Given the description of an element on the screen output the (x, y) to click on. 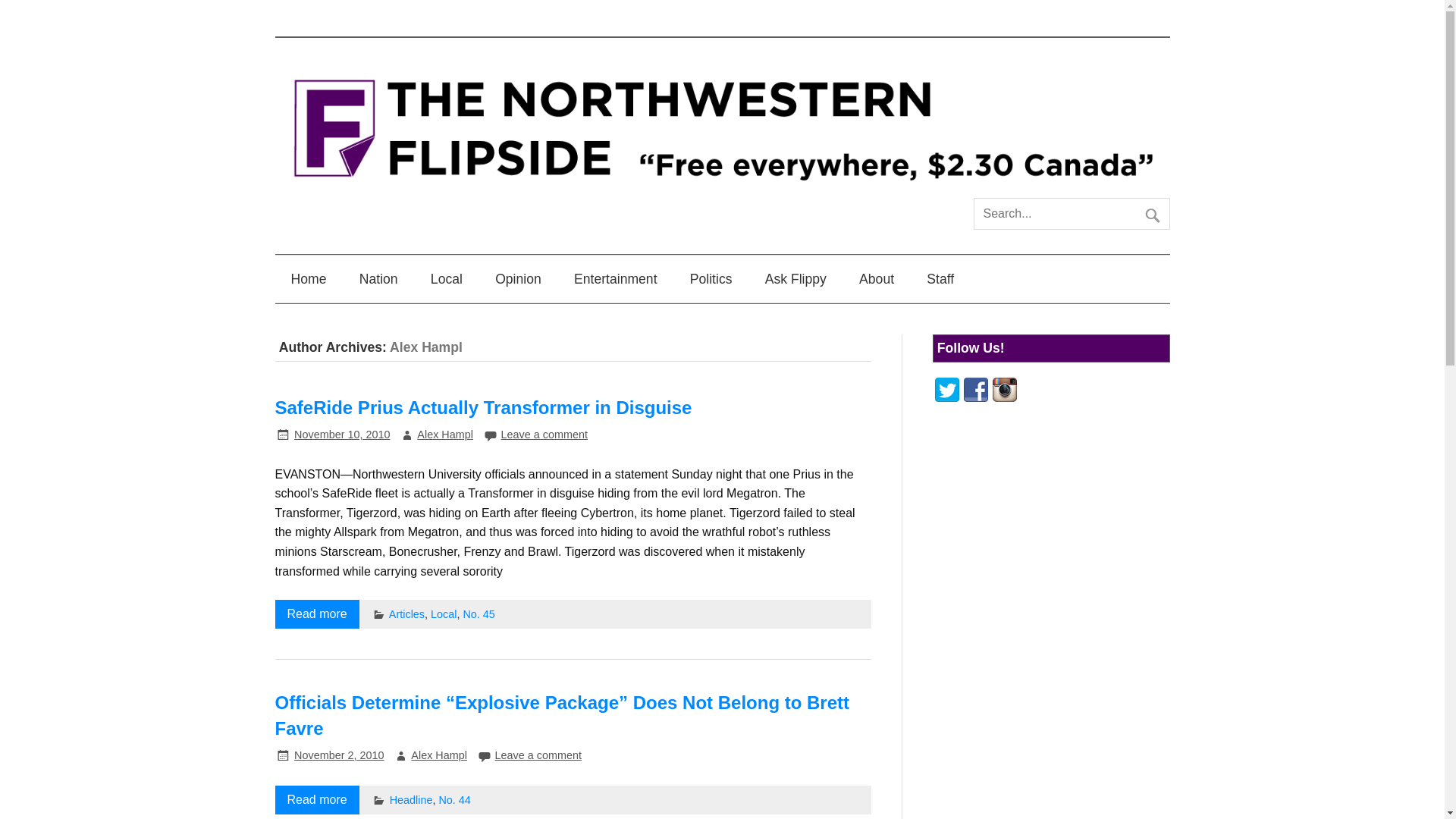
Articles (406, 613)
Local (446, 278)
View all posts by Alex Hampl (444, 434)
Home (308, 278)
Headline (411, 799)
2:54 am (342, 434)
Opinion (518, 278)
Alex Hampl (438, 755)
Read more (316, 613)
Read more (316, 799)
